Given the description of an element on the screen output the (x, y) to click on. 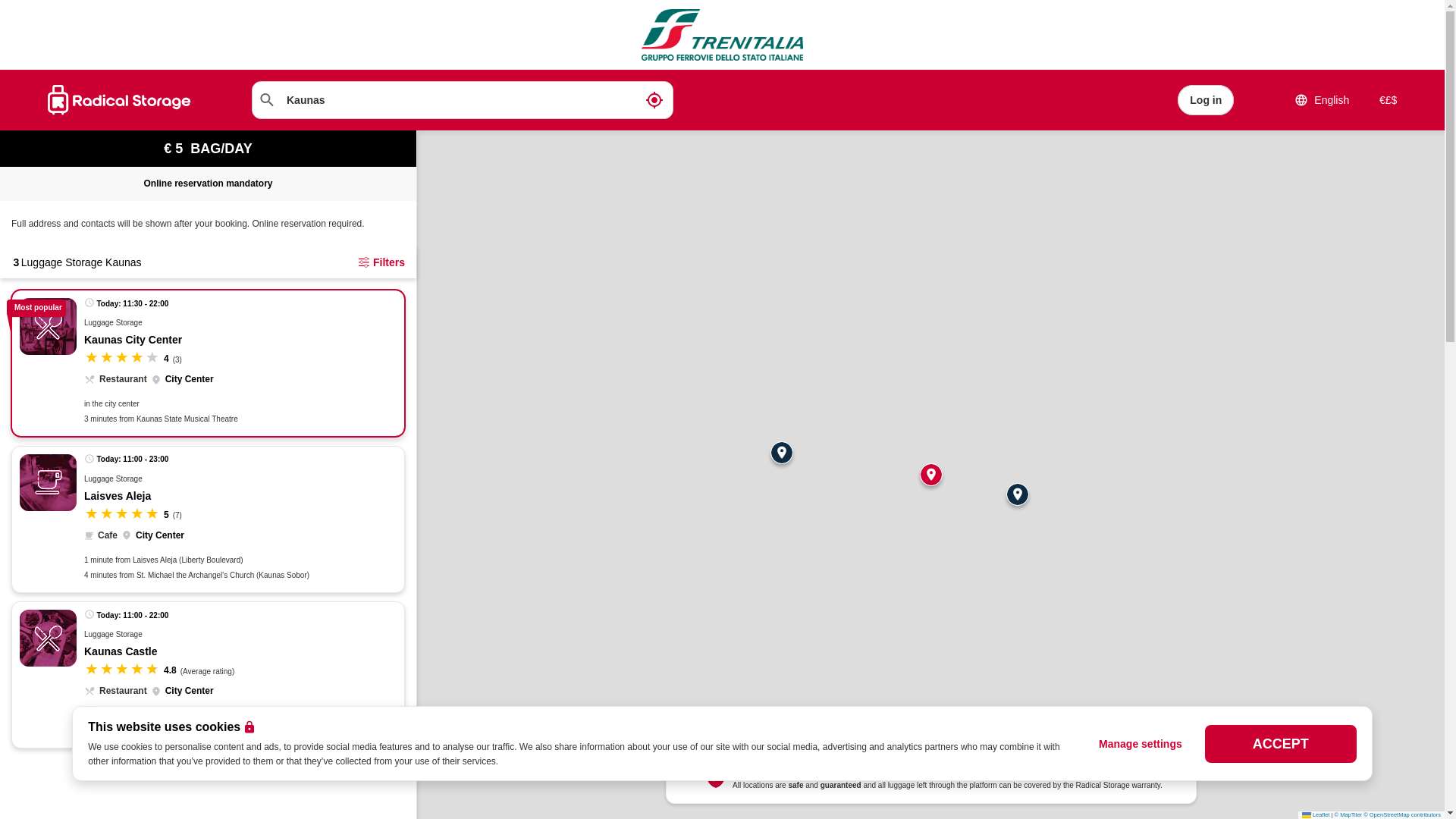
ACCEPT (1280, 743)
Kaunas (461, 99)
Log in (1205, 99)
Kaunas (461, 99)
Manage settings (1140, 742)
English (1321, 99)
